Given the description of an element on the screen output the (x, y) to click on. 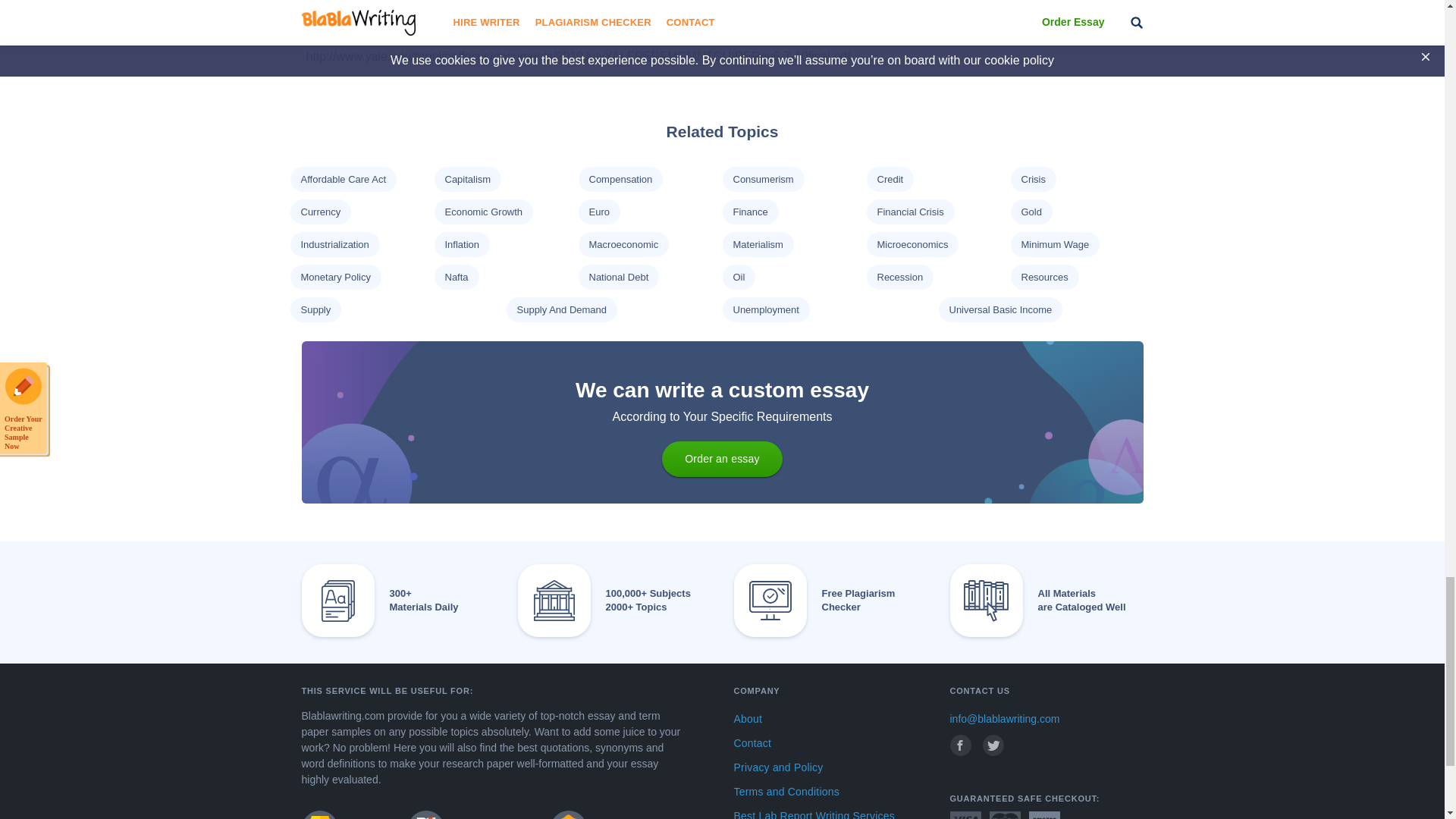
Compensation (620, 179)
Economic Growth (483, 211)
Inflation (461, 244)
Consumerism (762, 179)
Minimum Wage (1054, 244)
Crisis (1032, 179)
Euro (598, 211)
Monetary Policy (334, 276)
Capitalism (467, 179)
Finance (749, 211)
Currency (319, 211)
Microeconomics (911, 244)
Affordable Care Act (342, 179)
Gold (1030, 211)
Financial Crisis (909, 211)
